Given the description of an element on the screen output the (x, y) to click on. 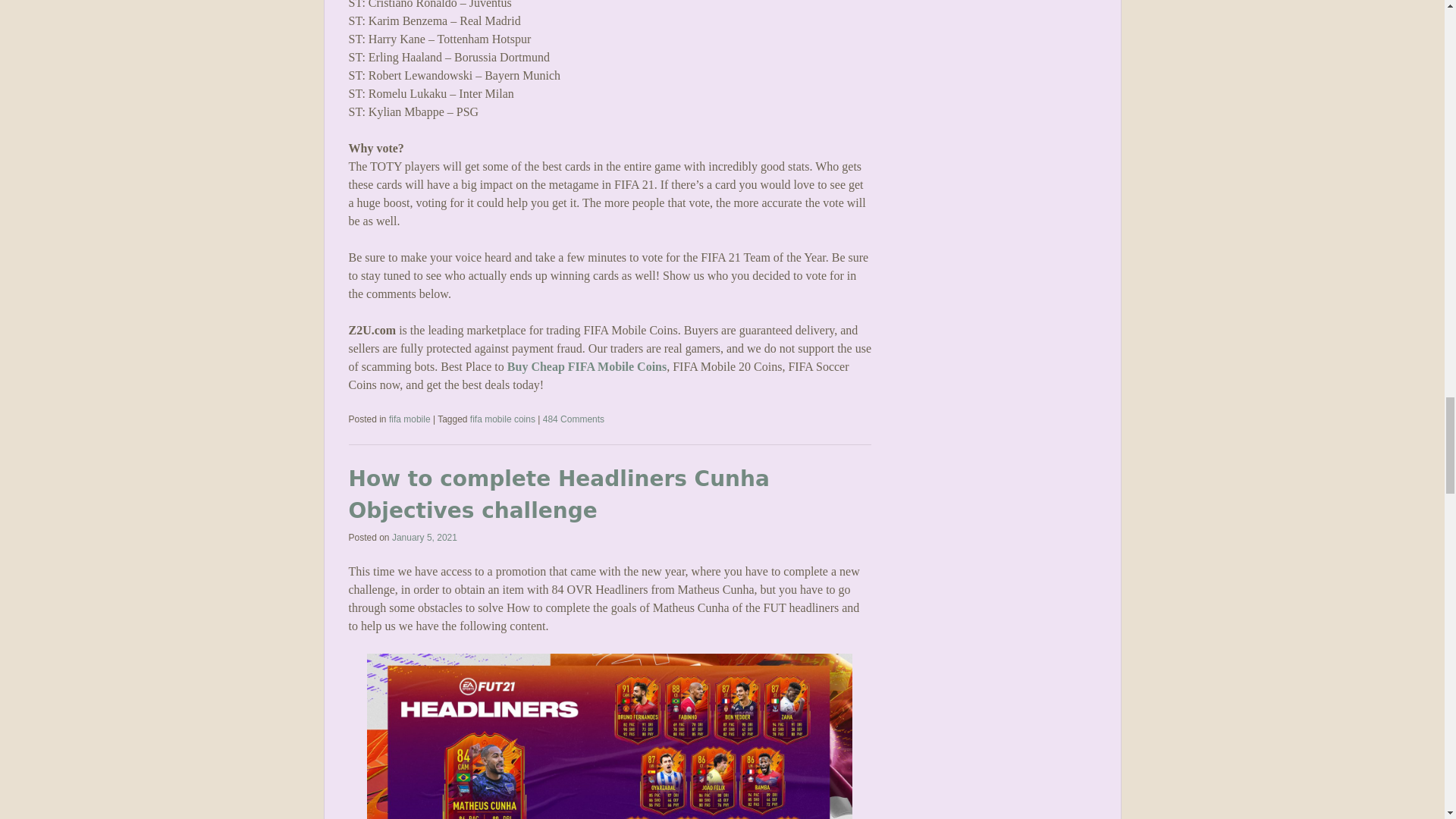
fifa mobile (409, 419)
9:18 am (424, 537)
Buy Cheap FIFA Mobile Coins (586, 366)
January 5, 2021 (424, 537)
484 Comments (573, 419)
How to complete Headliners Cunha Objectives challenge (559, 494)
fifa mobile coins (502, 419)
